Given the description of an element on the screen output the (x, y) to click on. 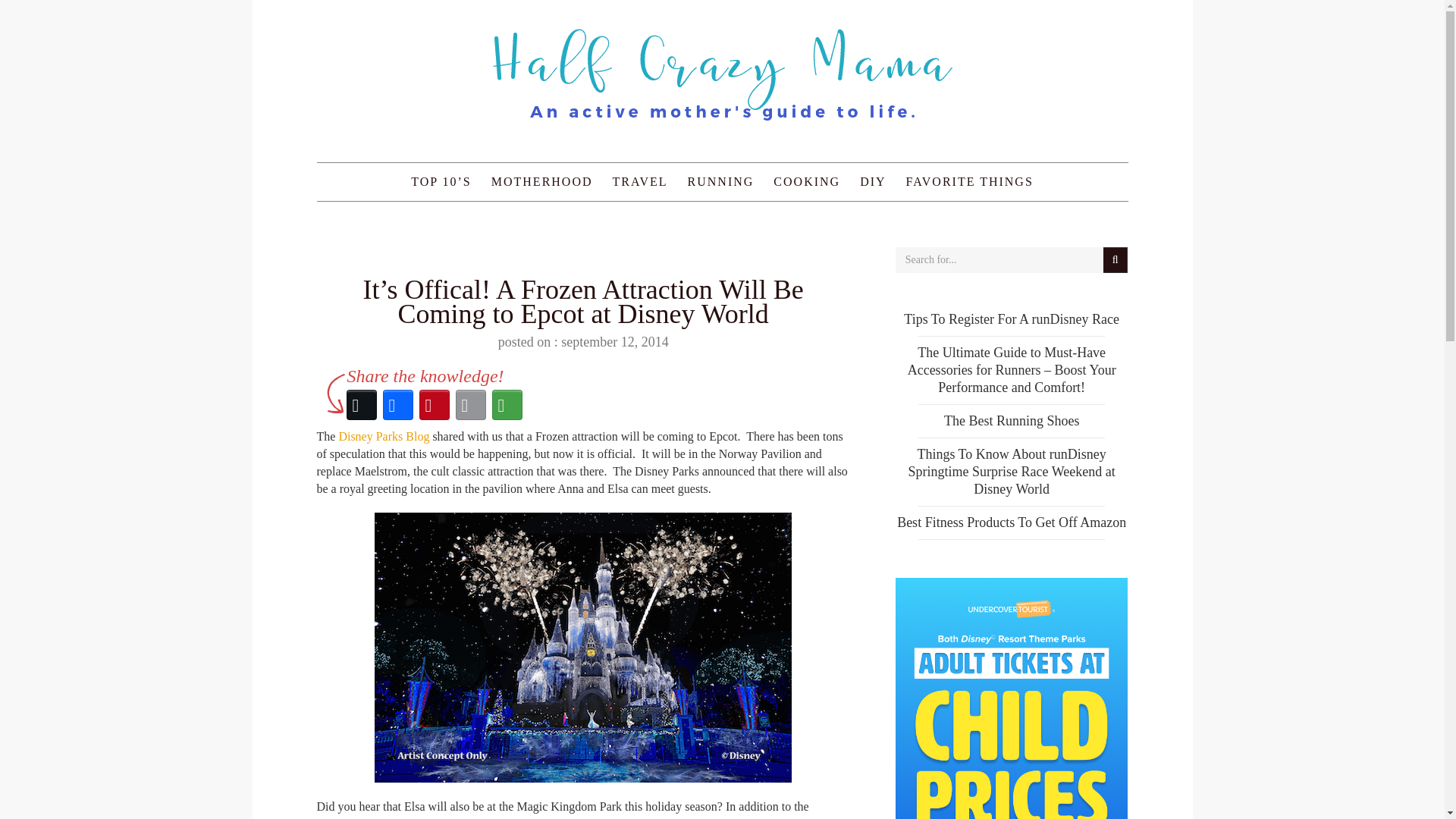
TRAVEL (640, 181)
COOKING (806, 181)
RUNNING (721, 181)
Disney Parks Blog (383, 436)
MOTHERHOOD (541, 181)
Email This (469, 404)
posted on : september 12, 2014 (582, 341)
DIY (872, 181)
Pinterest (432, 404)
Facebook (396, 404)
FAVORITE THINGS (969, 181)
More Options (505, 404)
